Given the description of an element on the screen output the (x, y) to click on. 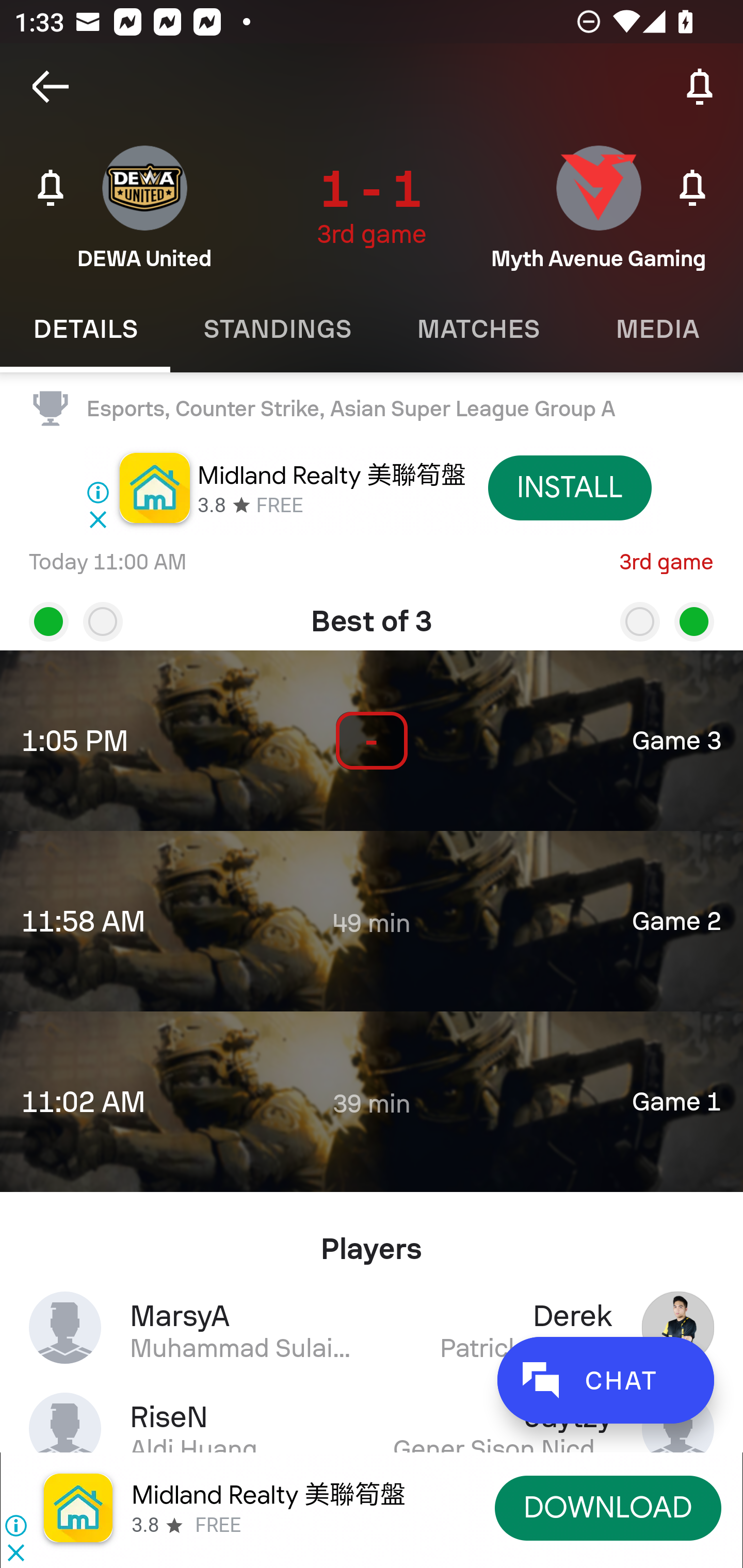
Navigate up (50, 86)
Standings STANDINGS (277, 329)
Matches MATCHES (478, 329)
Media MEDIA (657, 329)
INSTALL (570, 487)
Midland Realty 美聯筍盤 (331, 474)
Best of 3 (371, 614)
1:05 PM - Game 3 (371, 740)
11:58 AM 49 min Game 2 (371, 921)
11:02 AM 39 min Game 1 (371, 1101)
Players (371, 1240)
CHAT (605, 1380)
DOWNLOAD (607, 1507)
Midland Realty 美聯筍盤 (268, 1494)
